Given the description of an element on the screen output the (x, y) to click on. 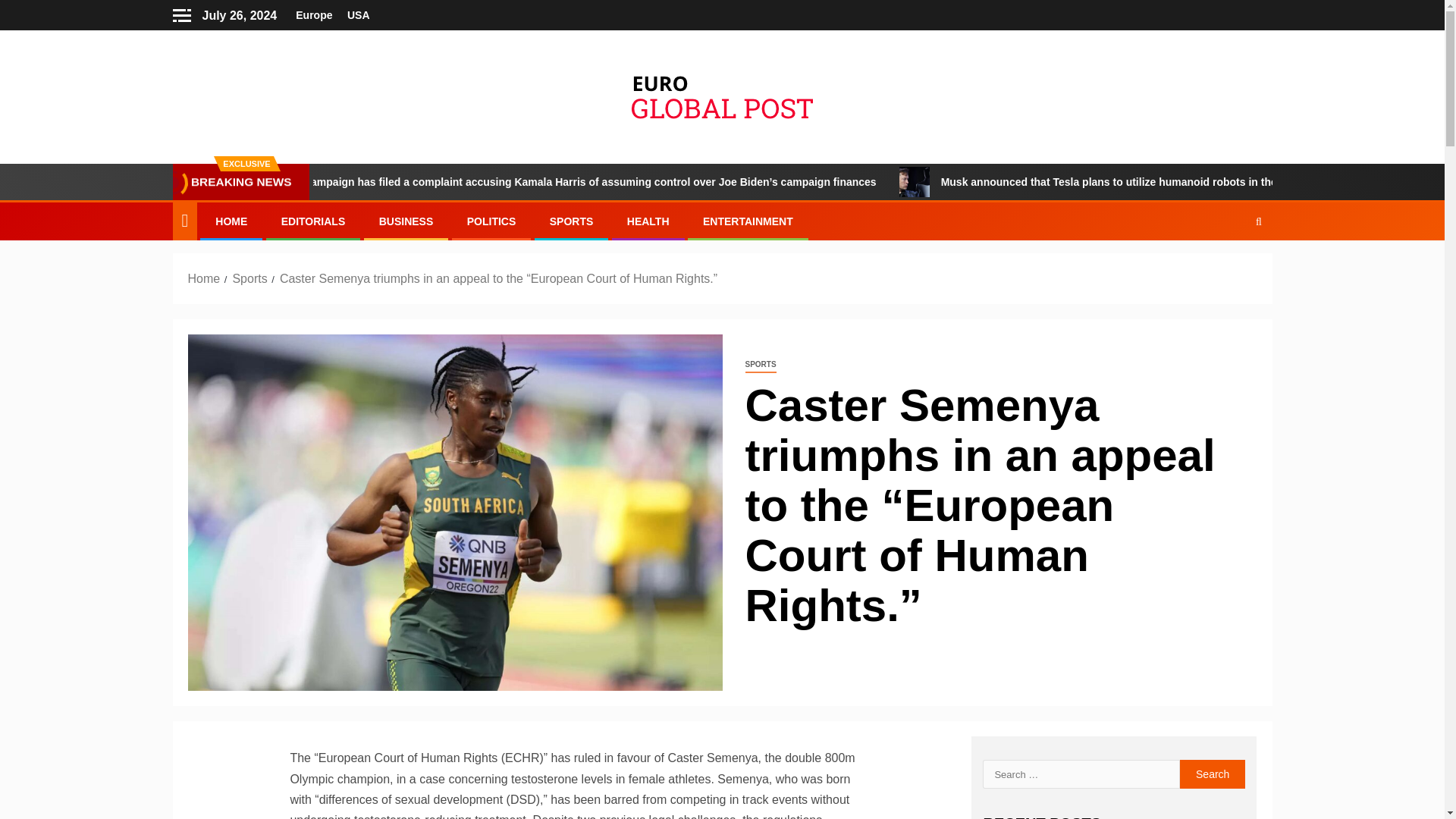
ENTERTAINMENT (748, 221)
Search (1212, 774)
Home (204, 278)
USA (358, 15)
HOME (231, 221)
SPORTS (572, 221)
Search (1212, 774)
POLITICS (491, 221)
Sports (248, 278)
BUSINESS (405, 221)
HEALTH (648, 221)
SPORTS (760, 365)
EDITORIALS (313, 221)
Europe (313, 15)
Search (1229, 267)
